Given the description of an element on the screen output the (x, y) to click on. 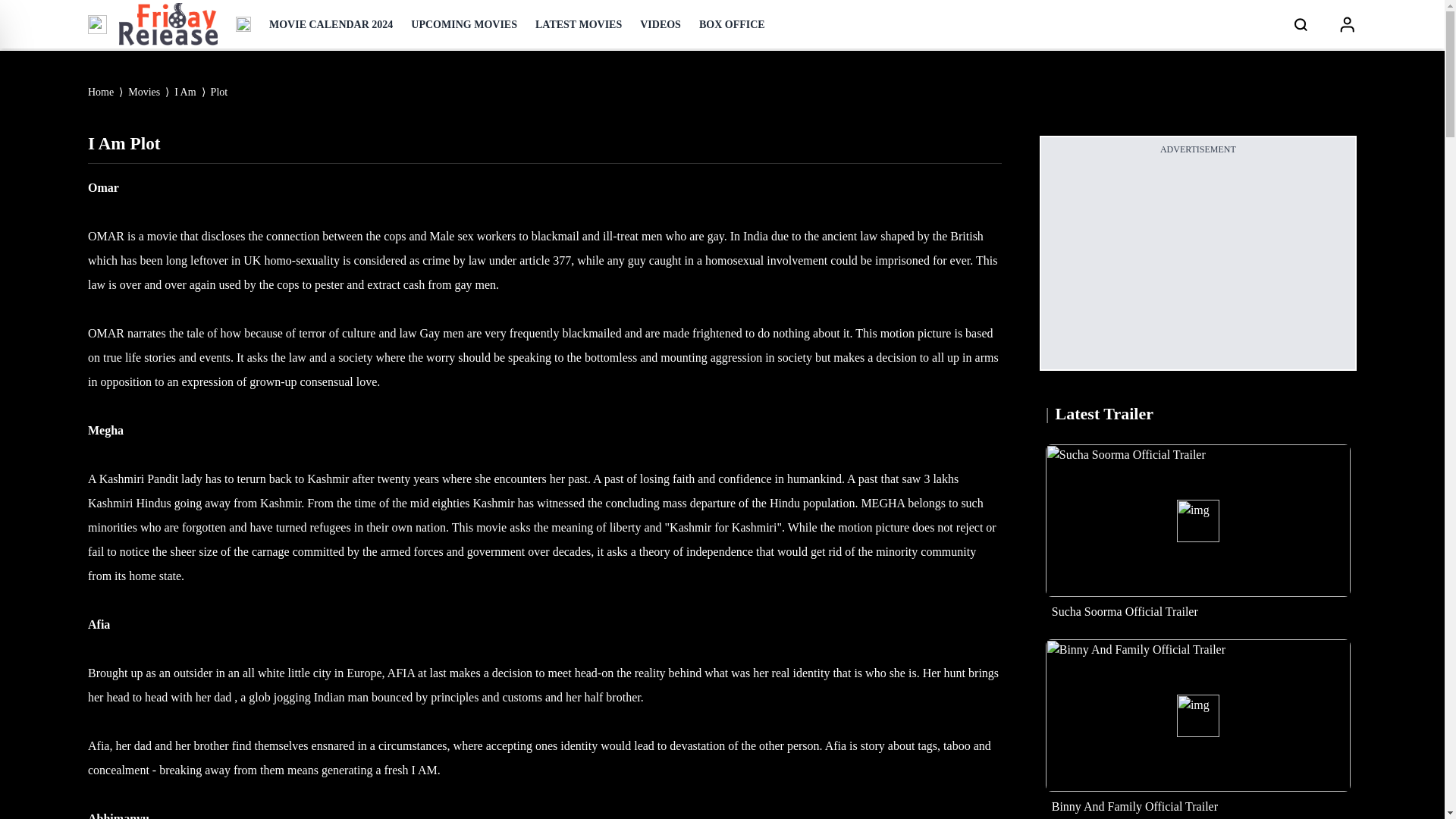
BOX OFFICE (731, 24)
VIDEOS (660, 24)
LATEST MOVIES (578, 24)
UPCOMING MOVIES (463, 24)
MOVIE CALENDAR 2024 (331, 24)
